Given the description of an element on the screen output the (x, y) to click on. 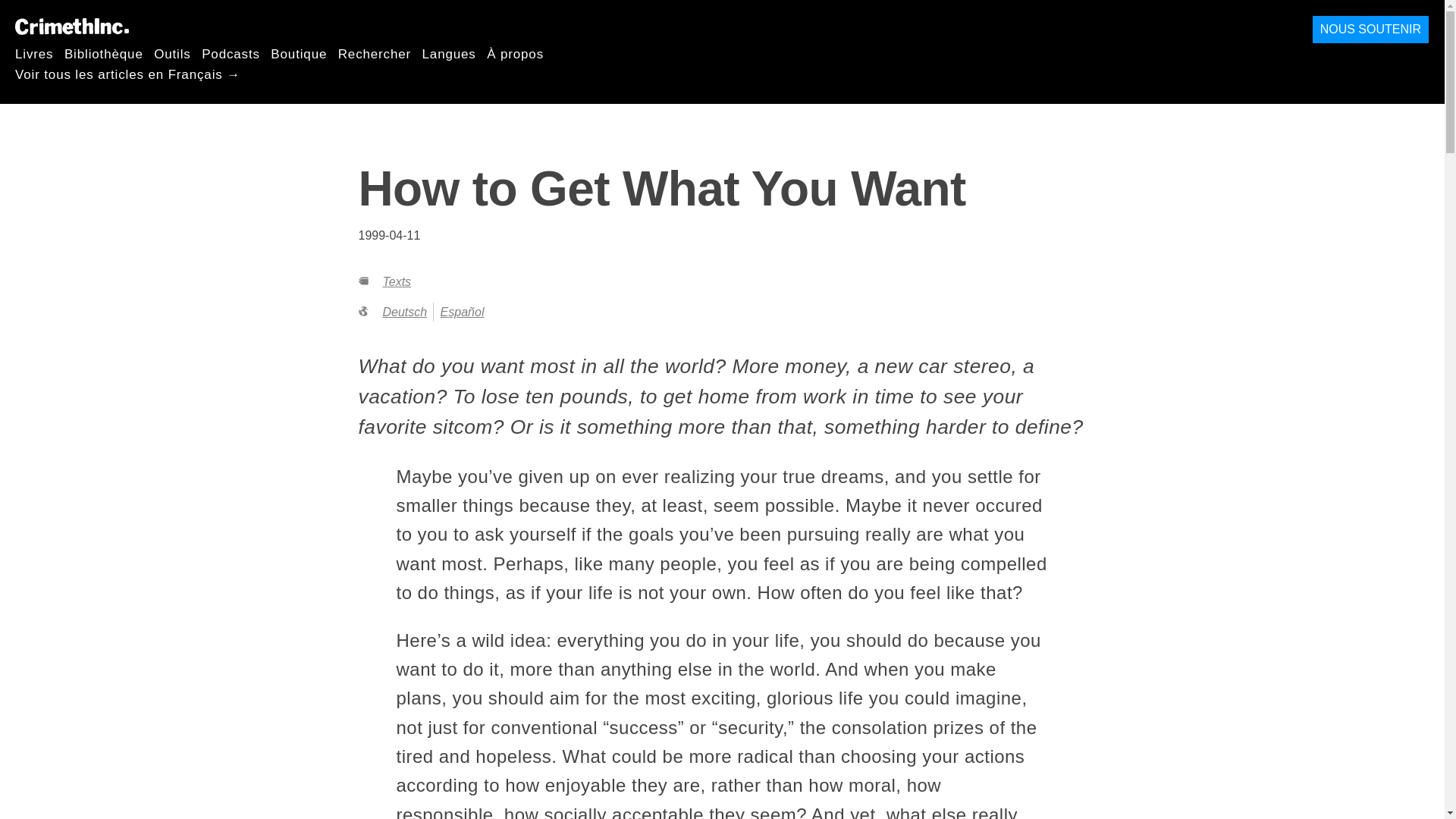
Deutsch (403, 311)
NOUS SOUTENIR (1370, 29)
Langues (449, 53)
Livres (33, 53)
Outils (172, 53)
Podcasts (231, 53)
CrimethInc. (71, 26)
Boutique (298, 53)
Texts (395, 281)
Rechercher (373, 53)
